Given the description of an element on the screen output the (x, y) to click on. 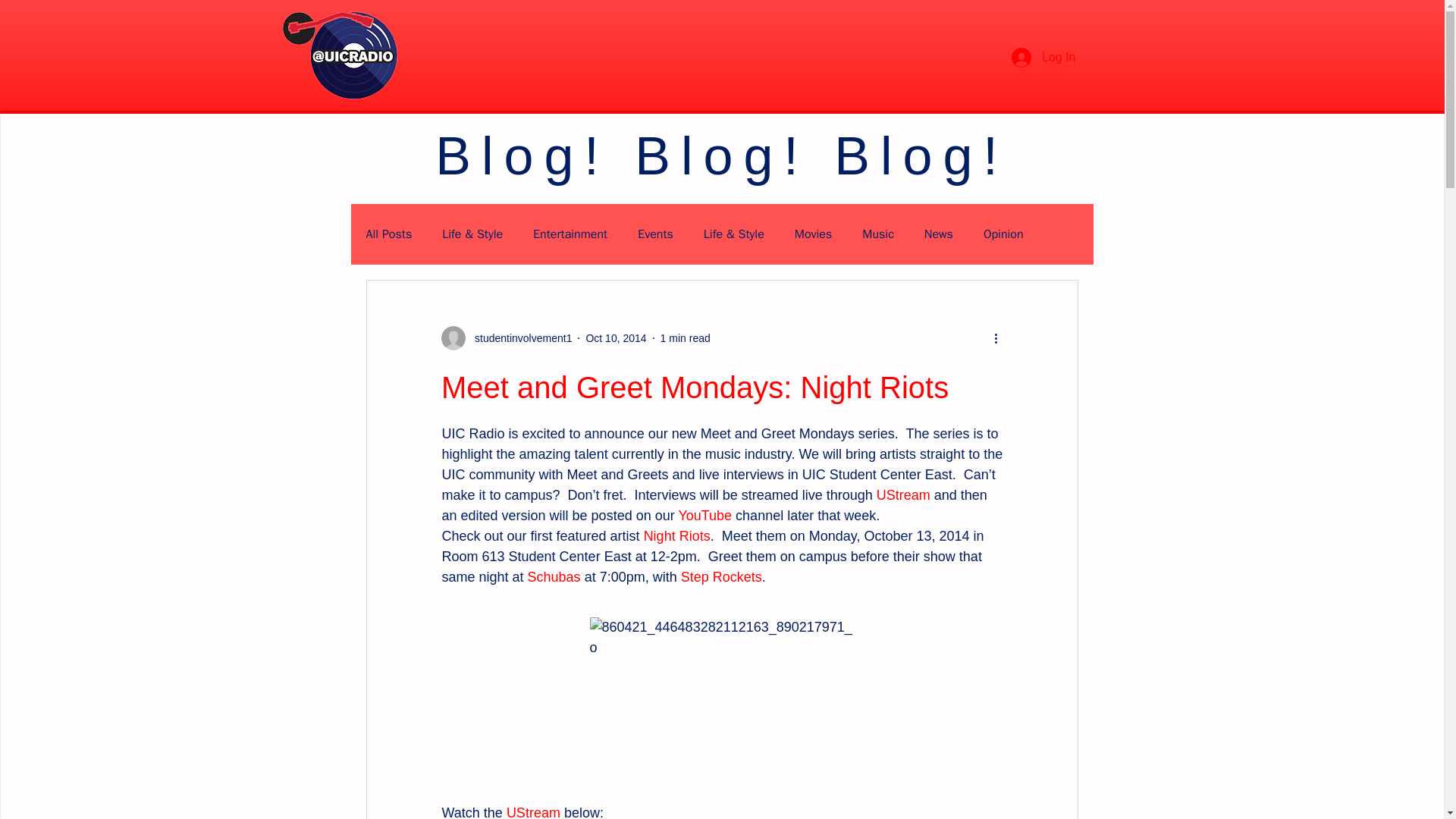
studentinvolvement1 (518, 338)
Entertainment (569, 233)
News (938, 233)
Events (654, 233)
1 min read (685, 337)
Music (877, 233)
Opinion (1003, 233)
All Posts (388, 233)
Movies (813, 233)
Log In (1043, 57)
